Given the description of an element on the screen output the (x, y) to click on. 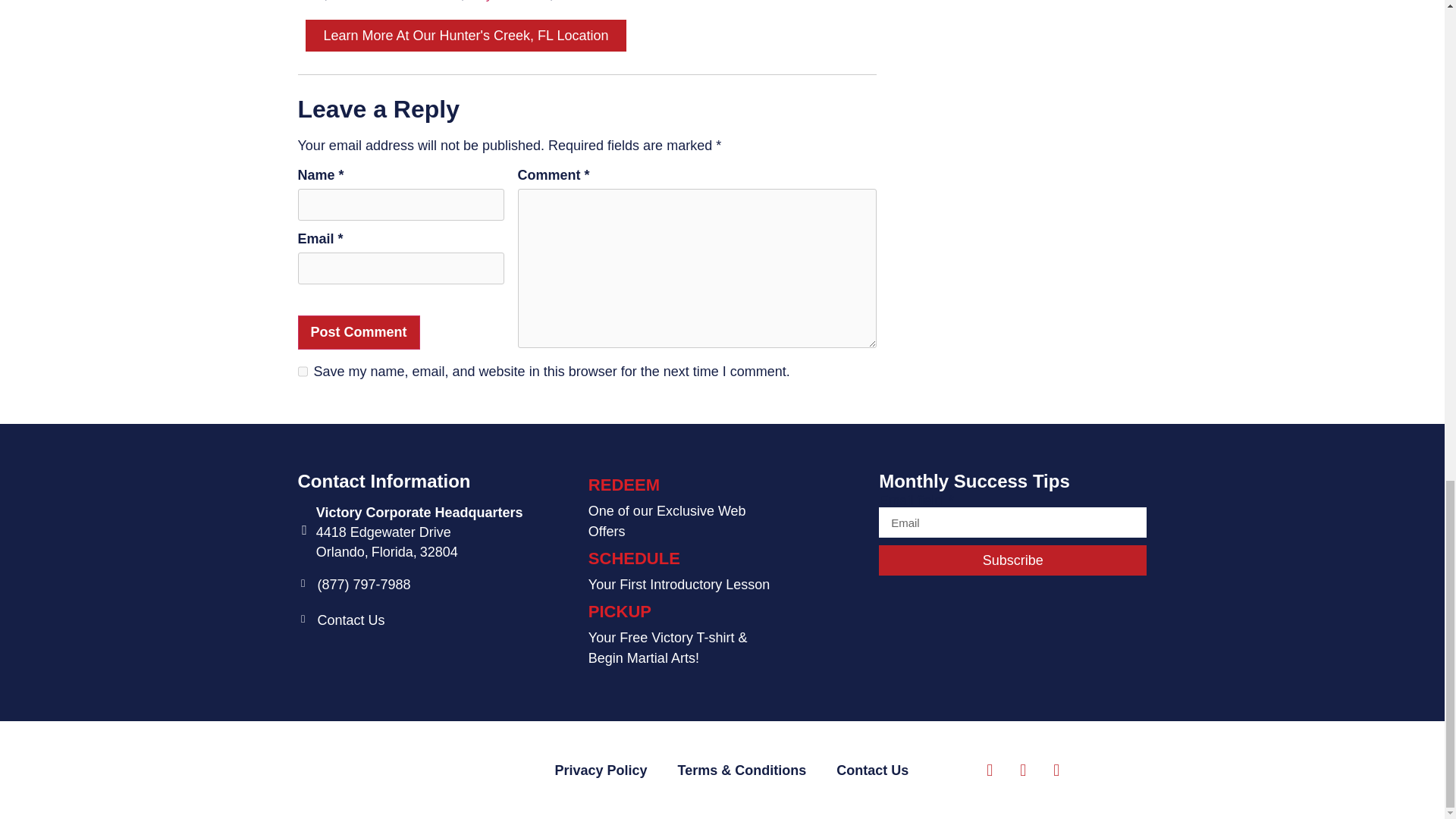
Post Comment (358, 332)
